Given the description of an element on the screen output the (x, y) to click on. 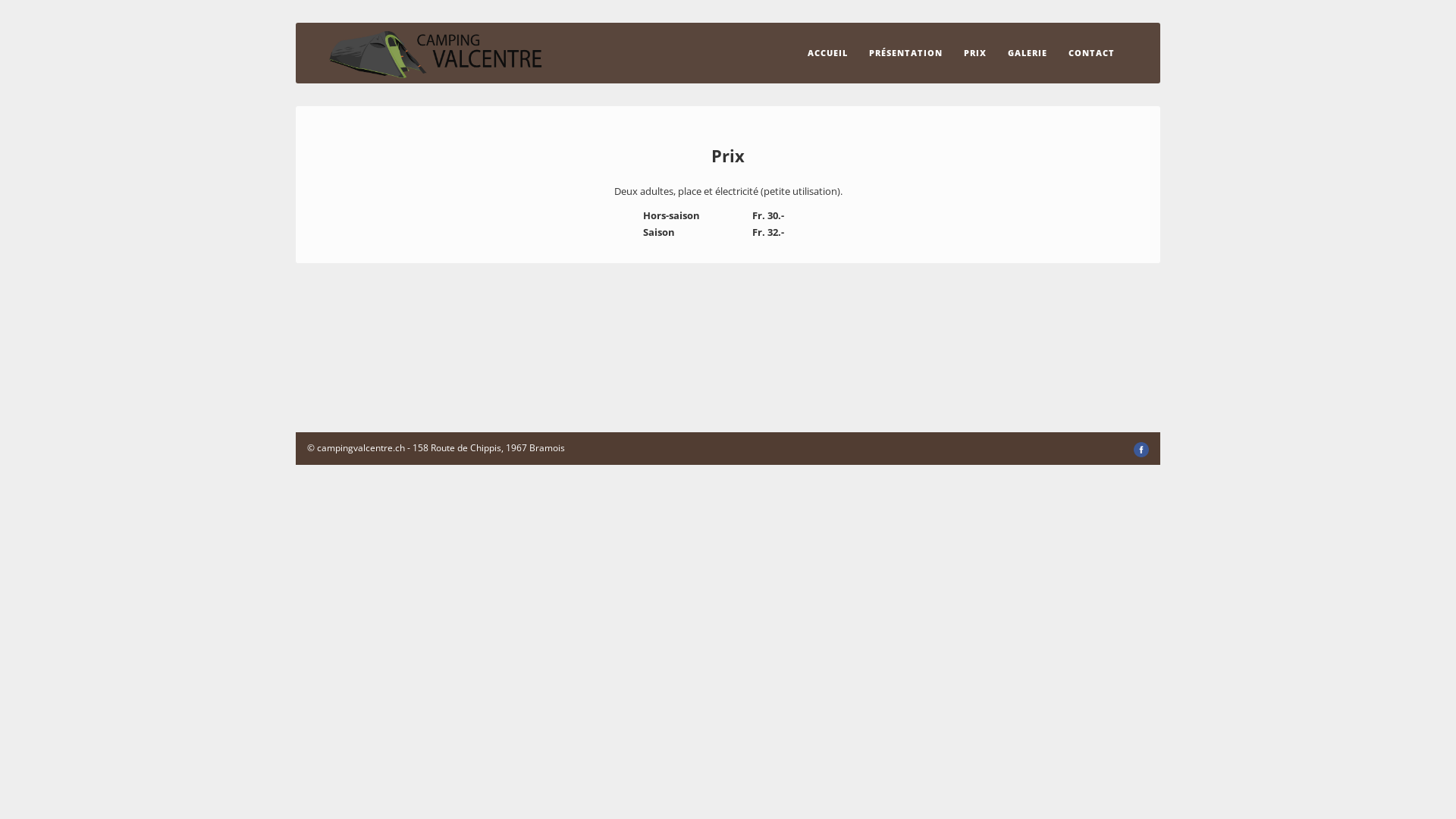
ACCUEIL Element type: text (827, 52)
CONTACT Element type: text (1091, 52)
GALERIE Element type: text (1027, 52)
PRIX Element type: text (975, 52)
